Given the description of an element on the screen output the (x, y) to click on. 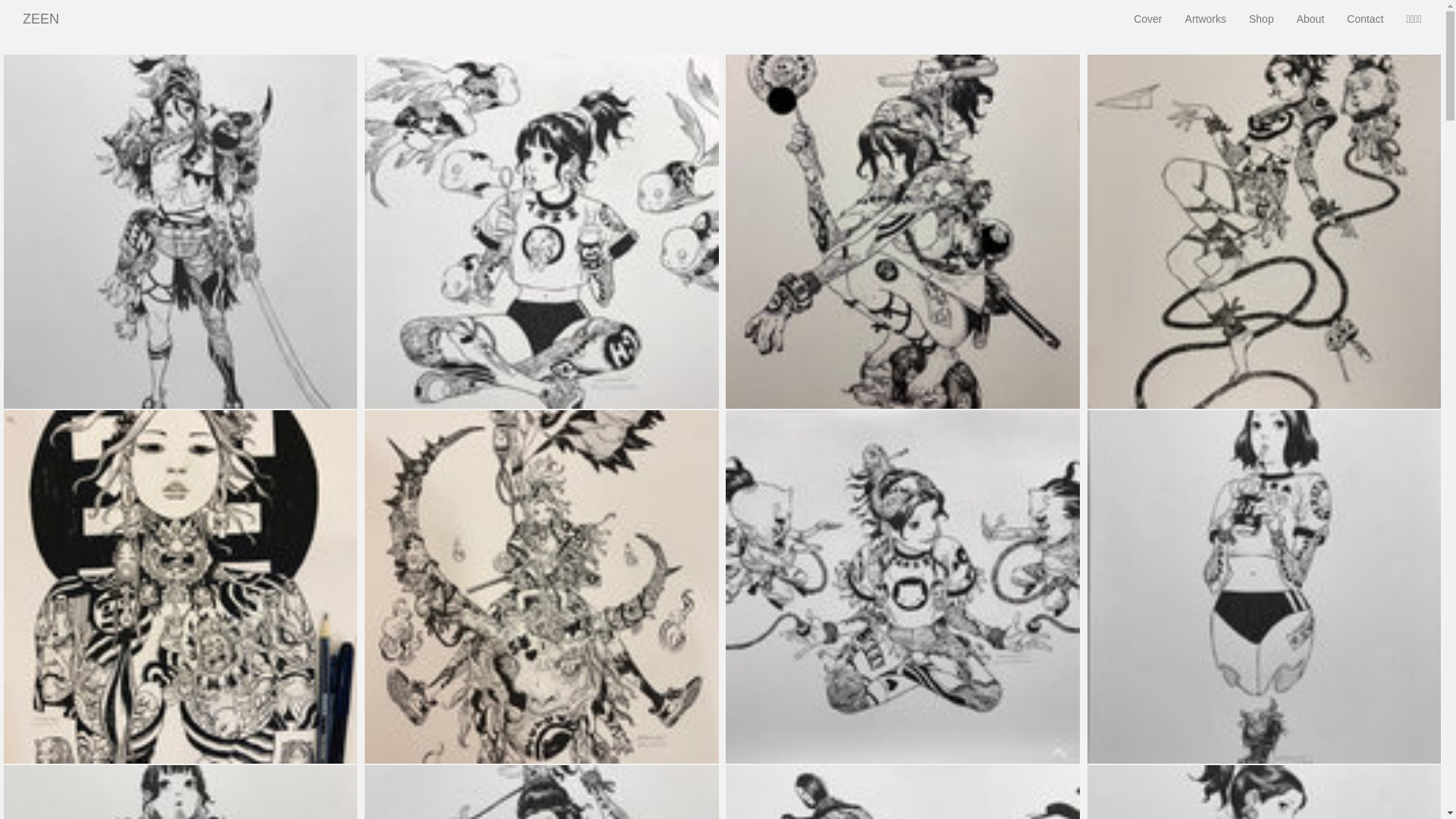
Contact Element type: text (1364, 18)
Cover Element type: text (1147, 18)
Shop Element type: text (1261, 18)
About Element type: text (1310, 18)
ZEEN Element type: text (40, 18)
Artworks Element type: text (1205, 18)
